Given the description of an element on the screen output the (x, y) to click on. 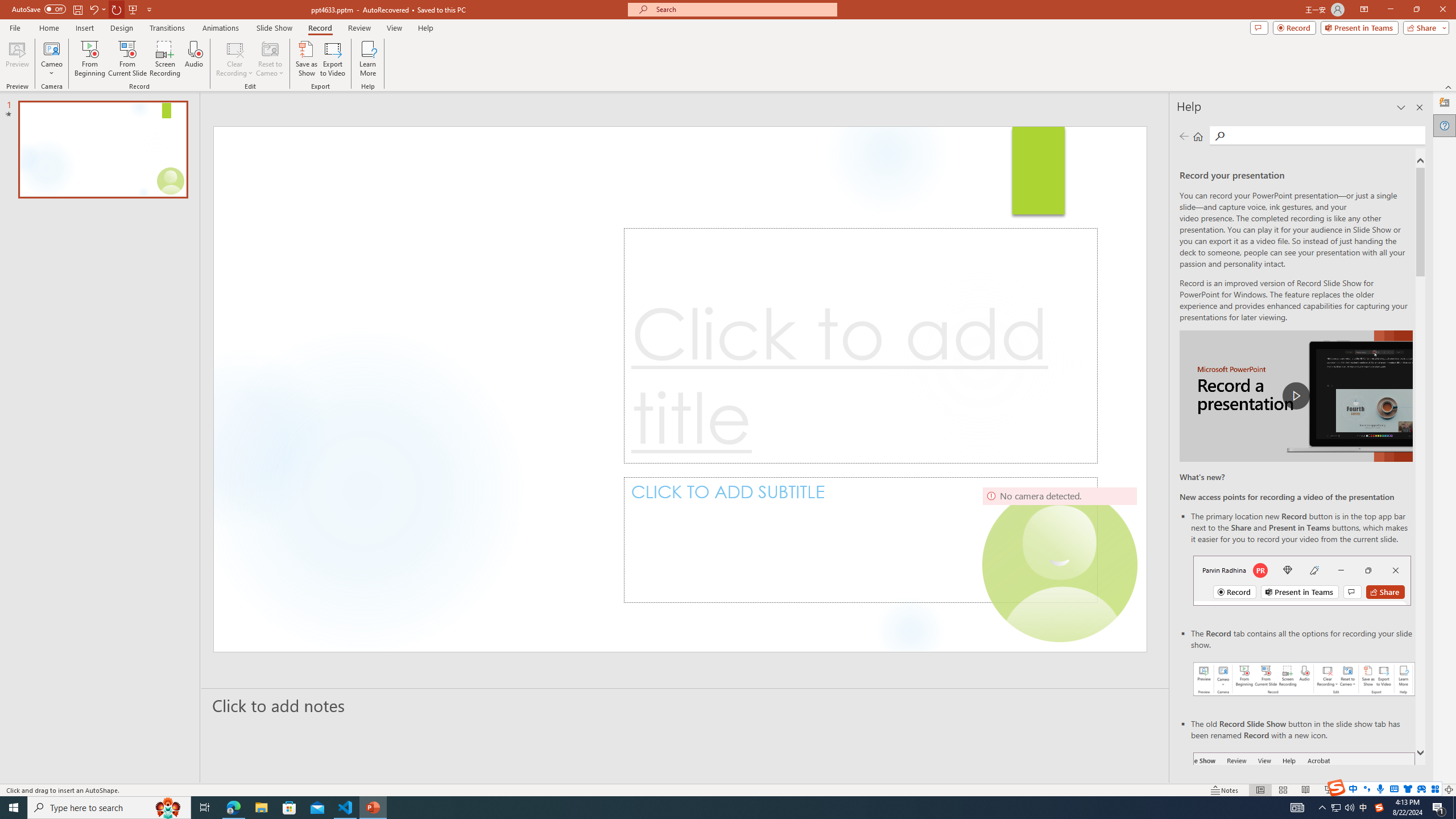
System (6, 6)
Previous page (1183, 136)
Home (1198, 136)
Customize Quick Access Toolbar (149, 9)
Save (77, 9)
Record (1294, 27)
Export to Video (332, 58)
Collapse the Ribbon (1448, 86)
View (395, 28)
Audio (193, 58)
